Given the description of an element on the screen output the (x, y) to click on. 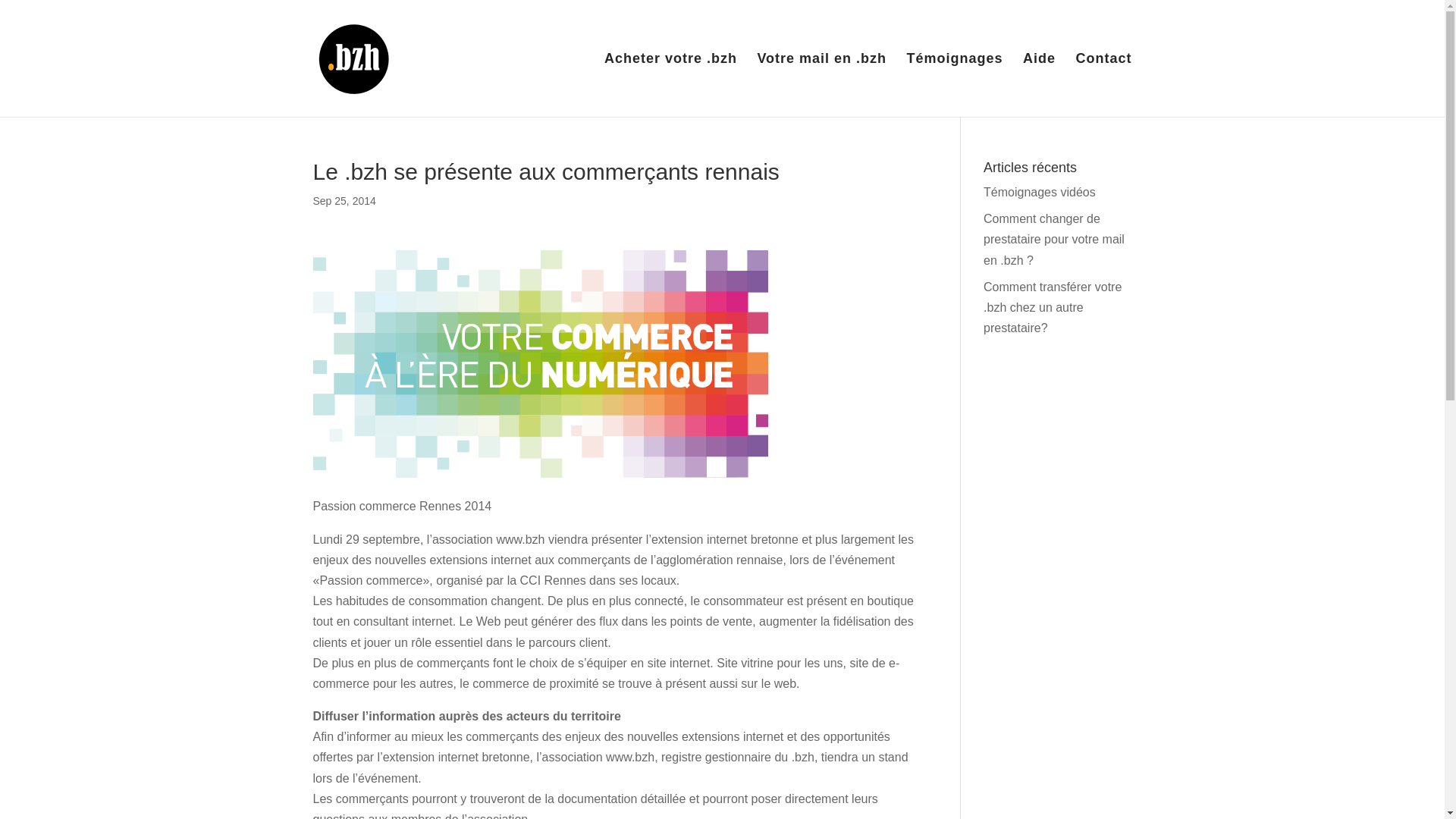
Aide Element type: text (1038, 84)
Comment changer de prestataire pour votre mail en .bzh ? Element type: text (1053, 239)
Votre mail en .bzh Element type: text (821, 84)
Contact Element type: text (1103, 84)
Acheter votre .bzh Element type: text (670, 84)
Passion commerce Rennes 2014 Element type: hover (539, 363)
